Given the description of an element on the screen output the (x, y) to click on. 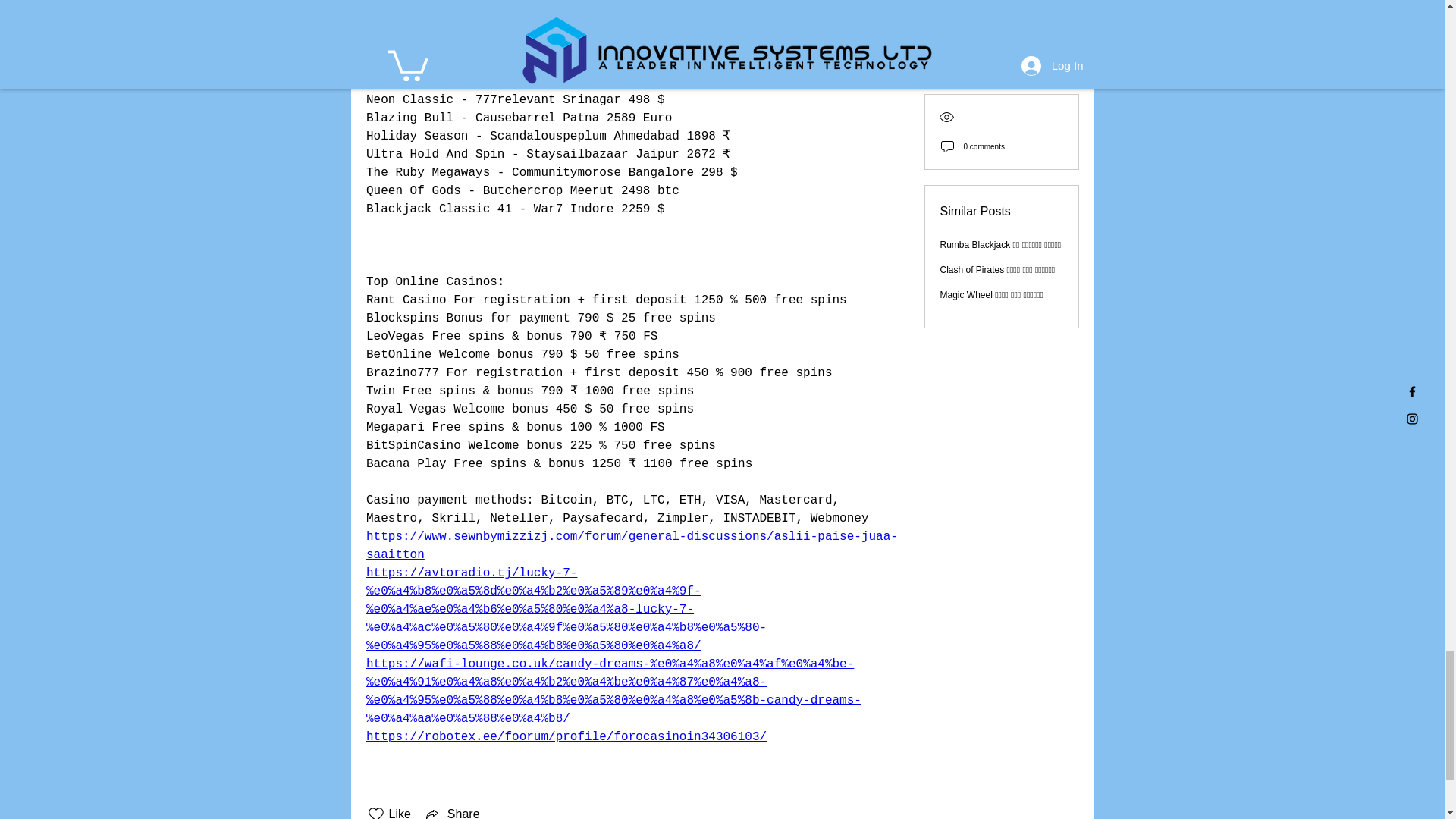
Share (451, 812)
